Given the description of an element on the screen output the (x, y) to click on. 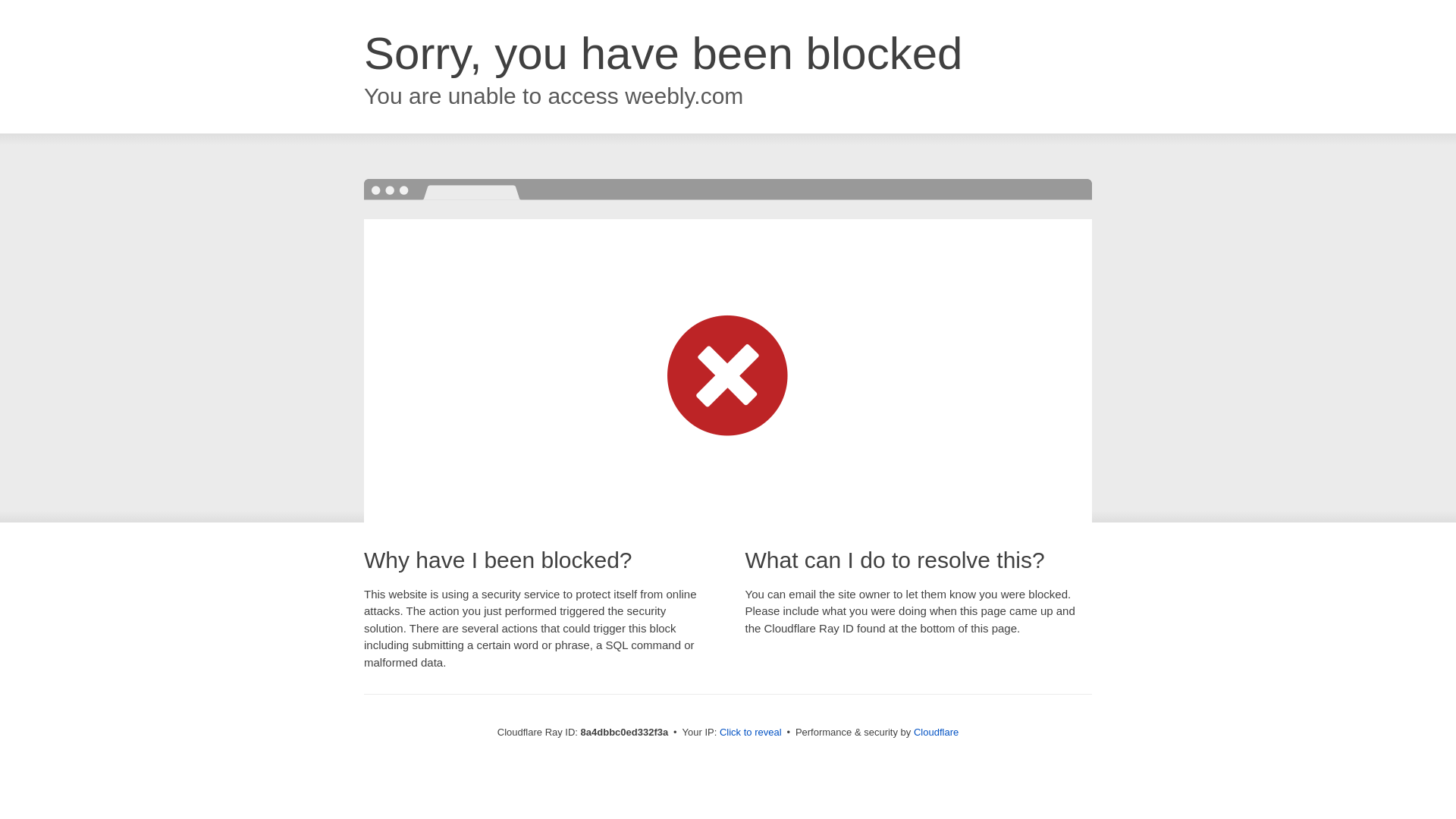
Click to reveal (750, 732)
Cloudflare (936, 731)
